Given the description of an element on the screen output the (x, y) to click on. 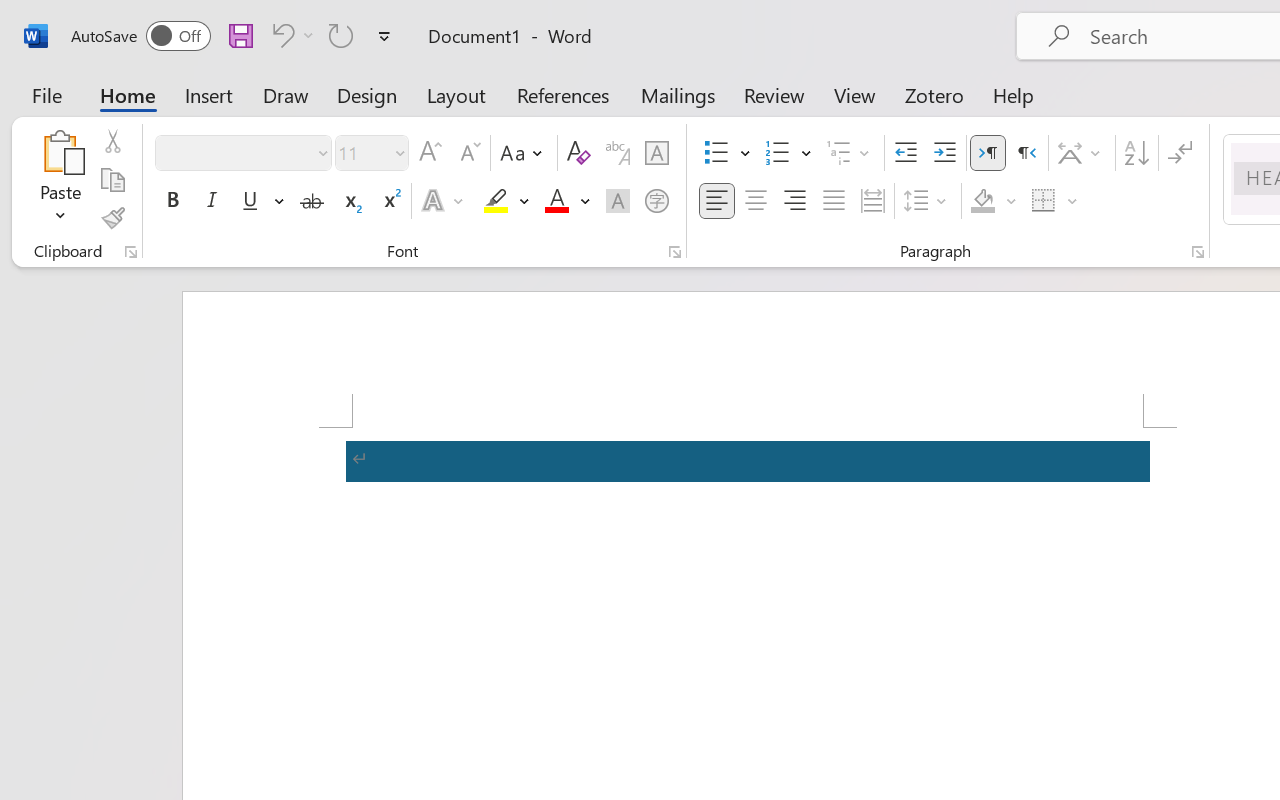
Shading No Color (982, 201)
